Given the description of an element on the screen output the (x, y) to click on. 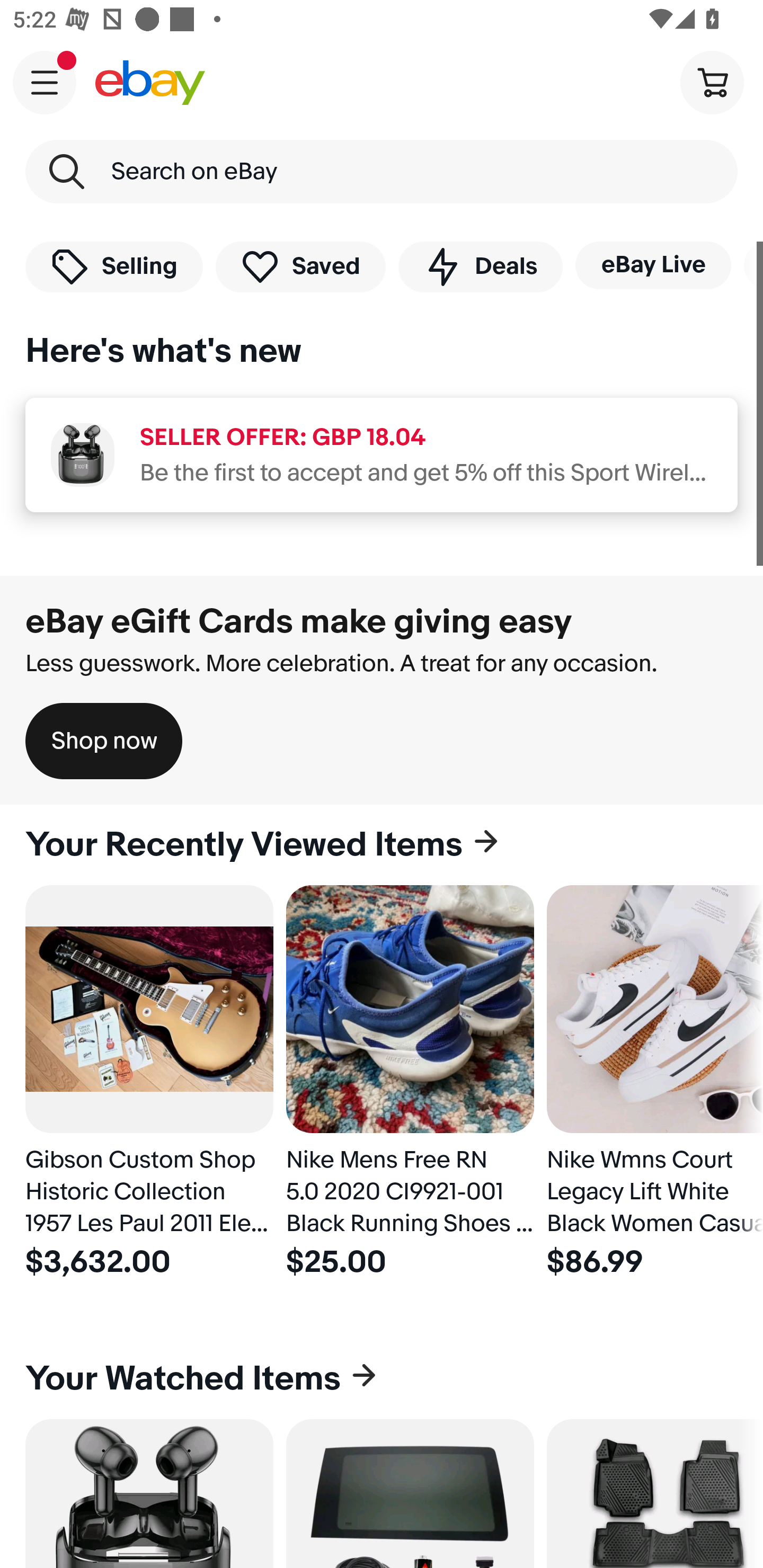
Main navigation, notification is pending, open (44, 82)
Cart button shopping cart (711, 81)
Search on eBay Search Keyword Search on eBay (381, 171)
Selling (113, 266)
Saved (300, 266)
Deals (480, 266)
eBay Live (652, 264)
eBay eGift Cards make giving easy (298, 621)
Shop now (103, 740)
Your Recently Viewed Items   (381, 844)
Your Watched Items   (381, 1379)
